Given the description of an element on the screen output the (x, y) to click on. 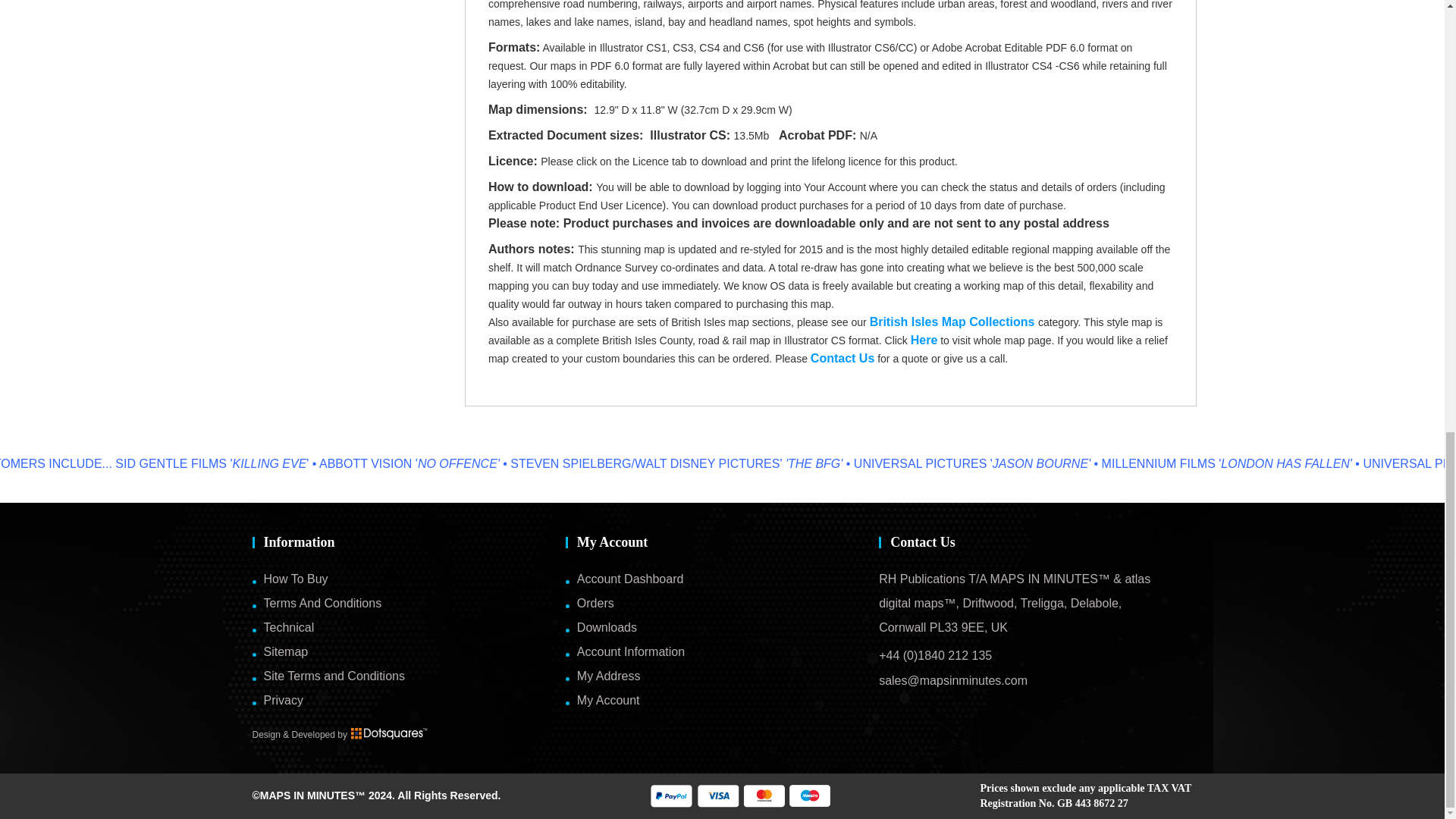
Go to full 500 map (924, 339)
Contact Us (842, 358)
